Given the description of an element on the screen output the (x, y) to click on. 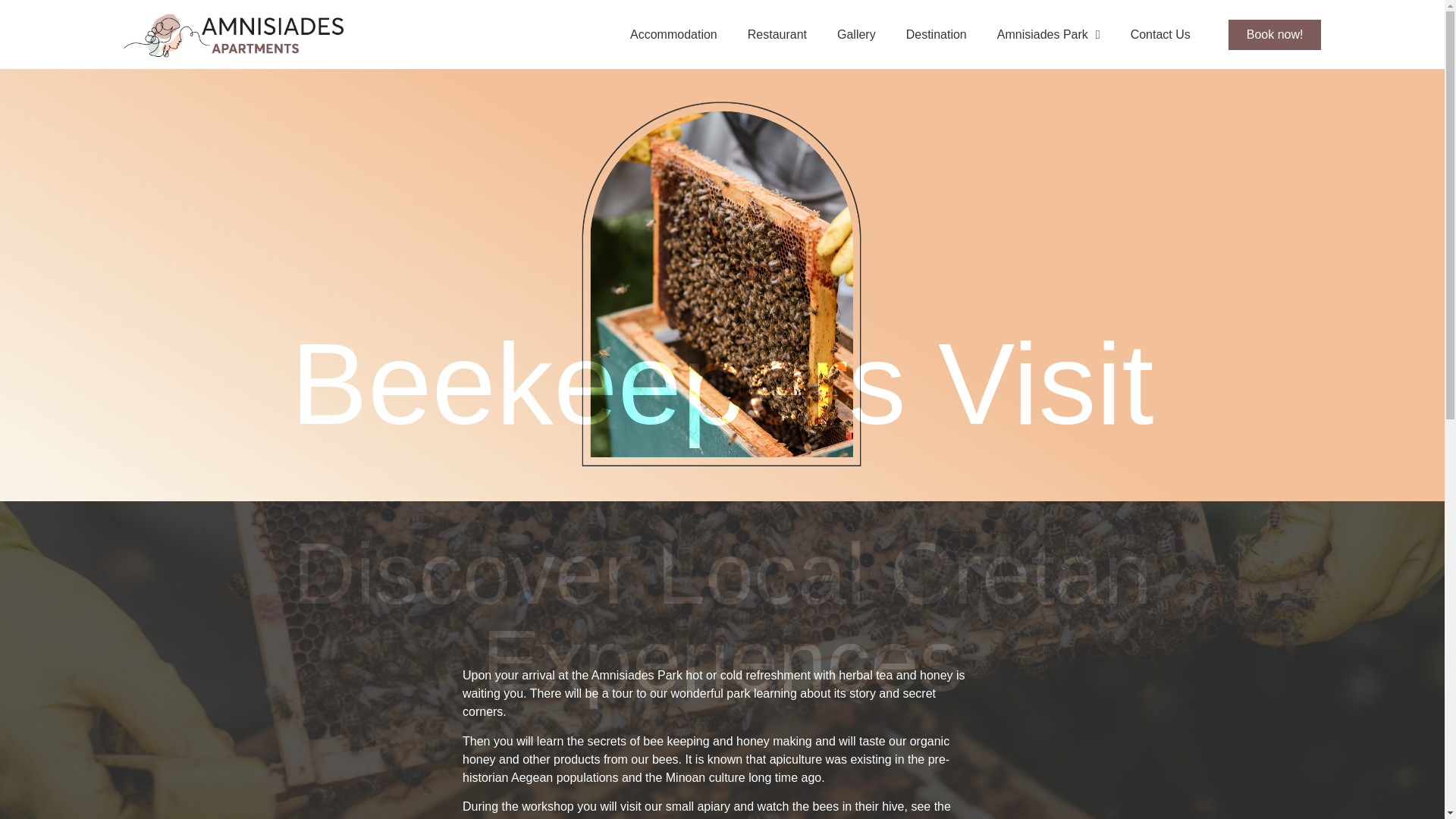
Book now! (1275, 34)
Amnisiades Park (1048, 34)
Destination (936, 34)
Gallery (856, 34)
Contact Us (1160, 34)
Restaurant (777, 34)
Accommodation (673, 34)
